Given the description of an element on the screen output the (x, y) to click on. 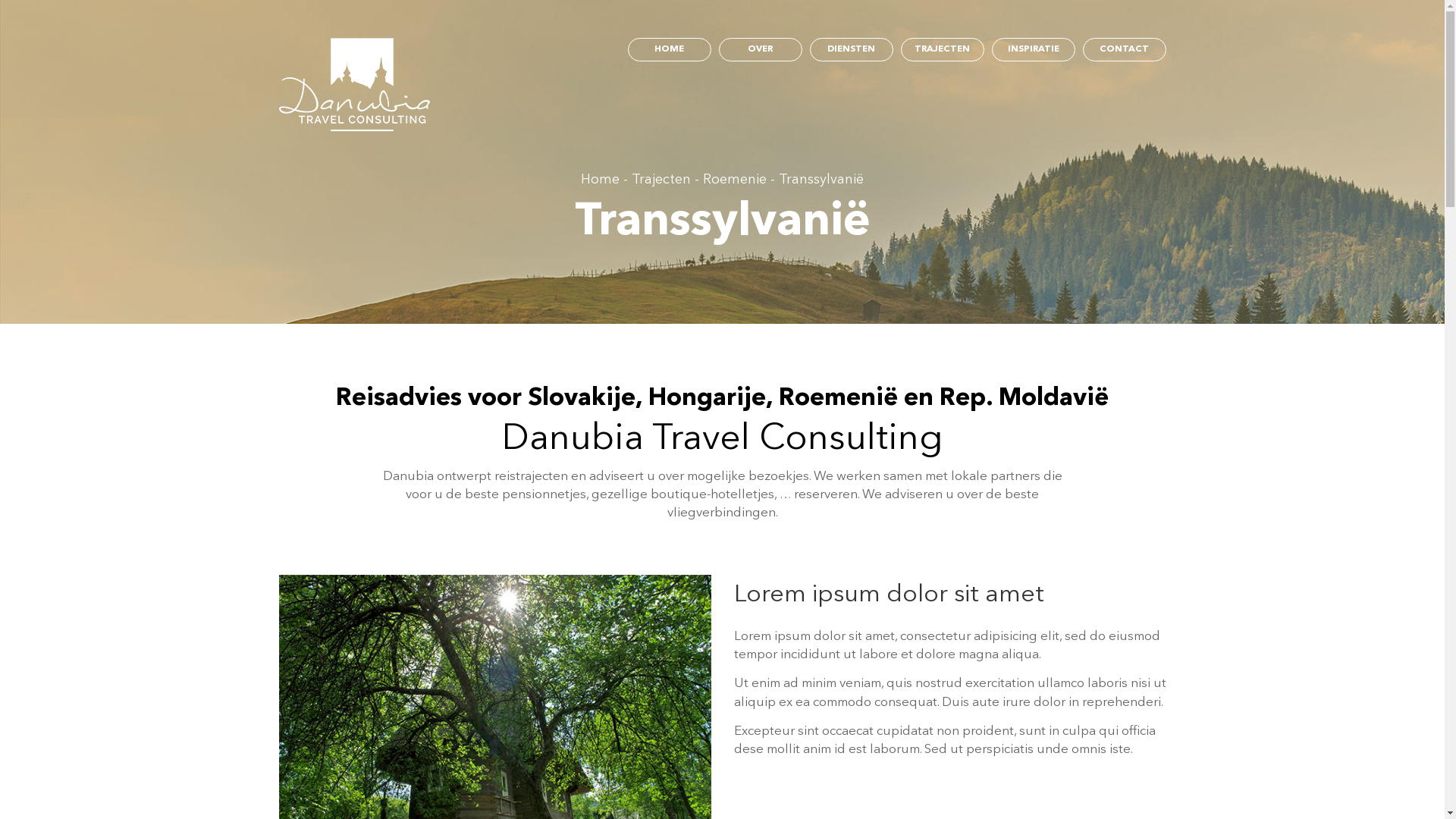
Home Element type: text (599, 179)
DIENSTEN Element type: text (851, 49)
Roemenie Element type: text (734, 179)
INSPIRATIE Element type: text (1033, 49)
TRAJECTEN Element type: text (942, 49)
Trajecten Element type: text (660, 179)
OVER Element type: text (760, 49)
HOME Element type: text (669, 49)
CONTACT Element type: text (1124, 49)
